Given the description of an element on the screen output the (x, y) to click on. 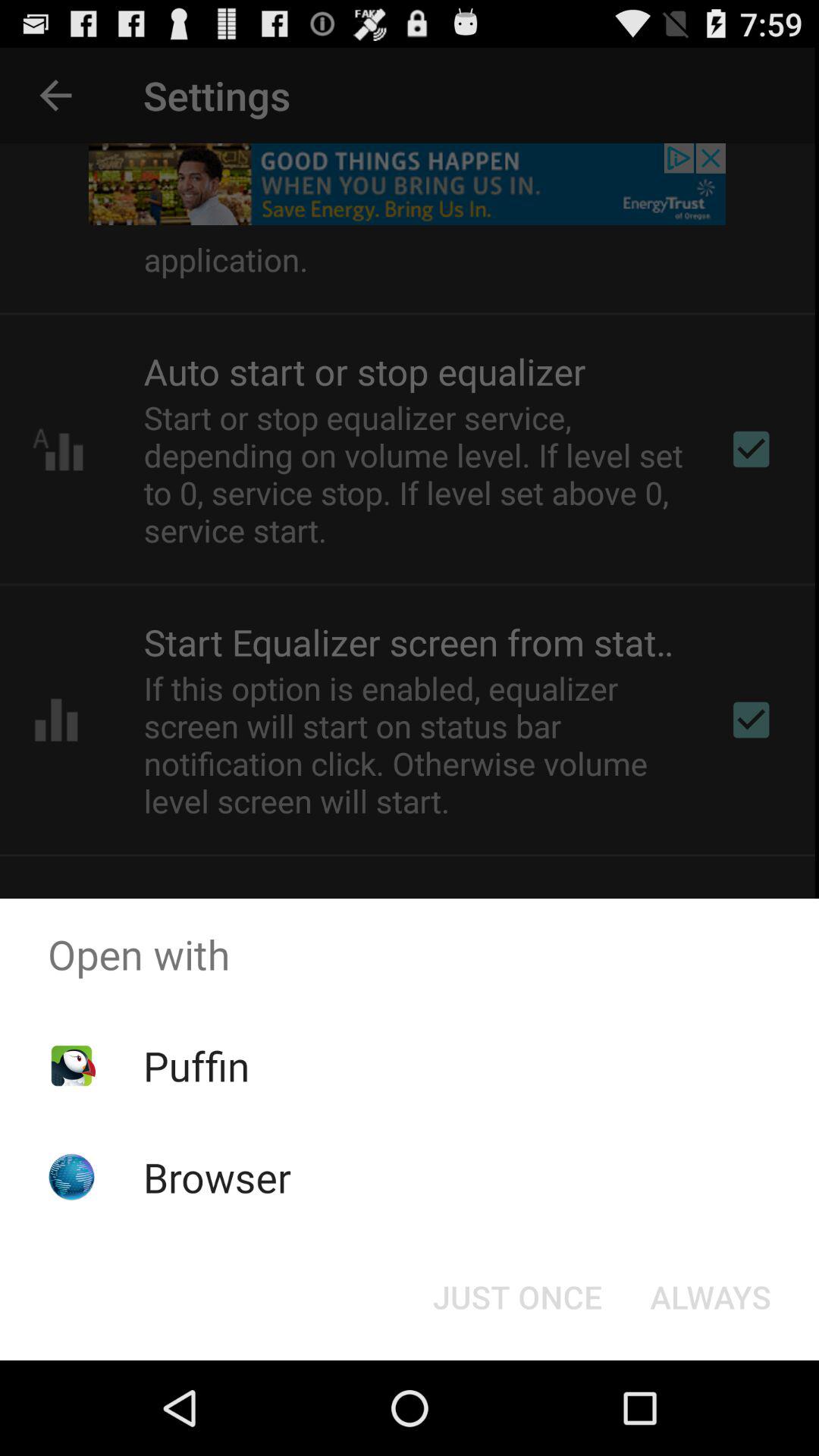
tap always icon (710, 1296)
